Given the description of an element on the screen output the (x, y) to click on. 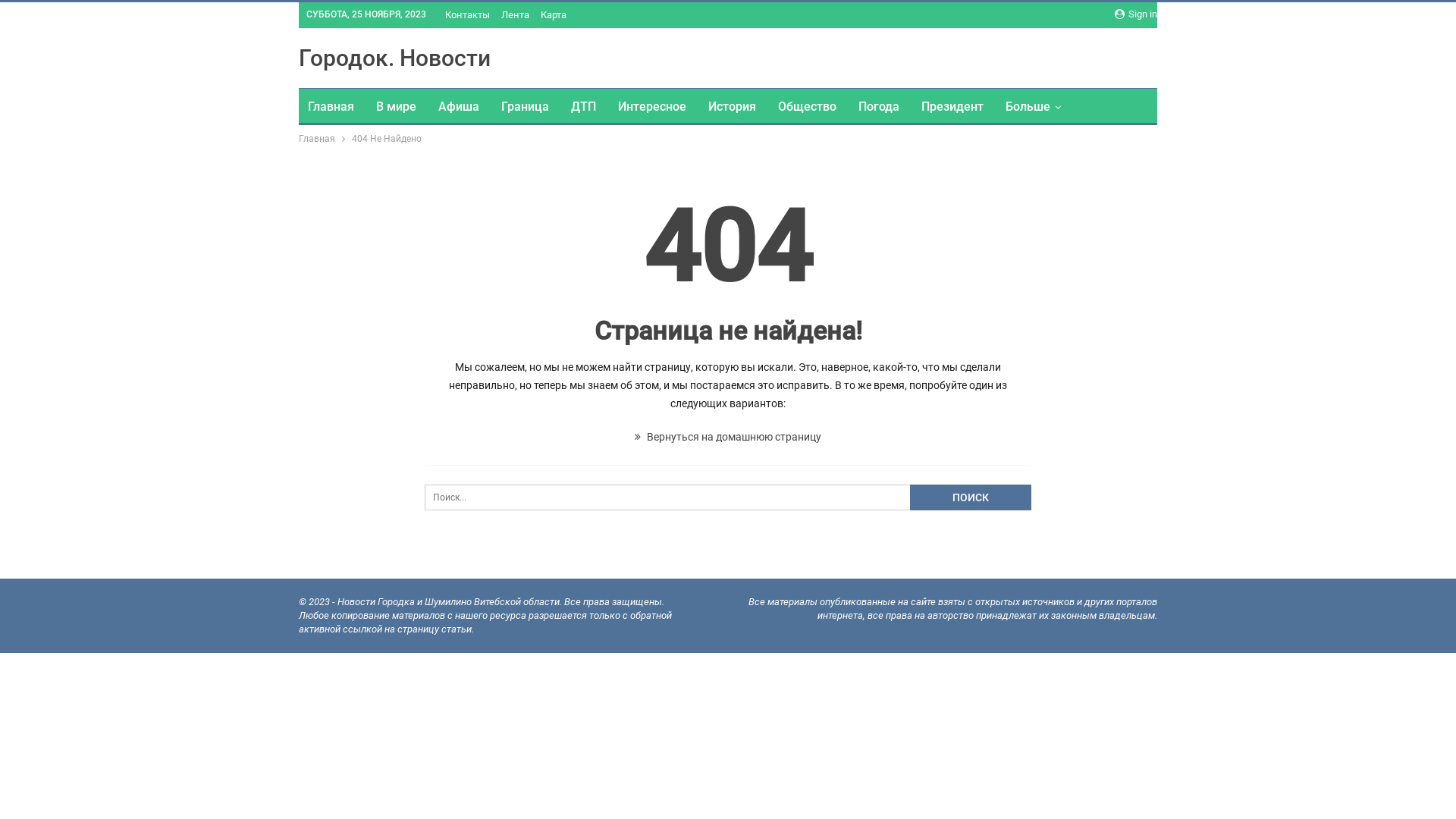
Sign in Element type: text (1135, 14)
